Given the description of an element on the screen output the (x, y) to click on. 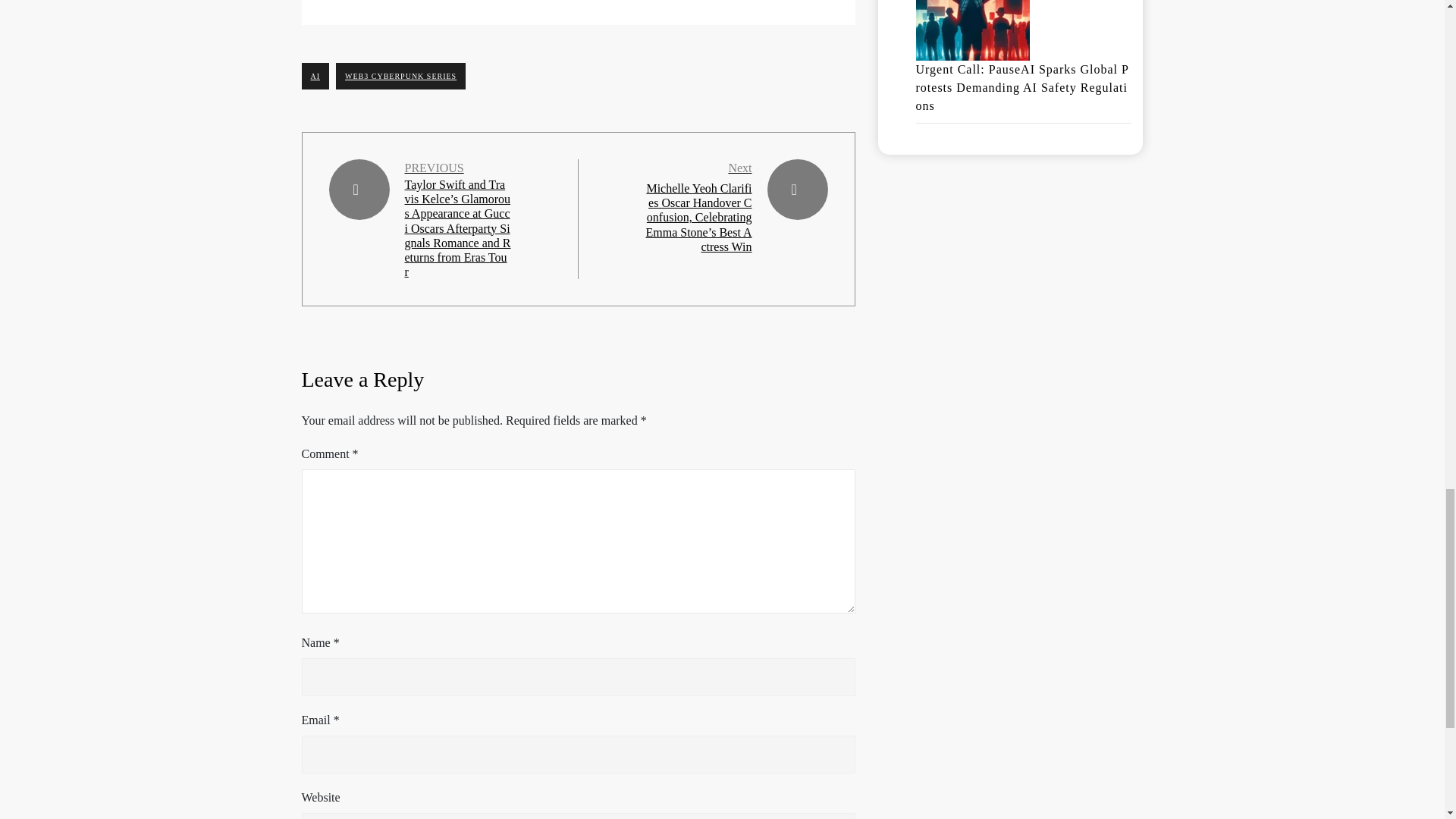
WEB3 CYBERPUNK SERIES (400, 76)
PREVIOUS (434, 167)
AI (315, 76)
Next (739, 167)
